Given the description of an element on the screen output the (x, y) to click on. 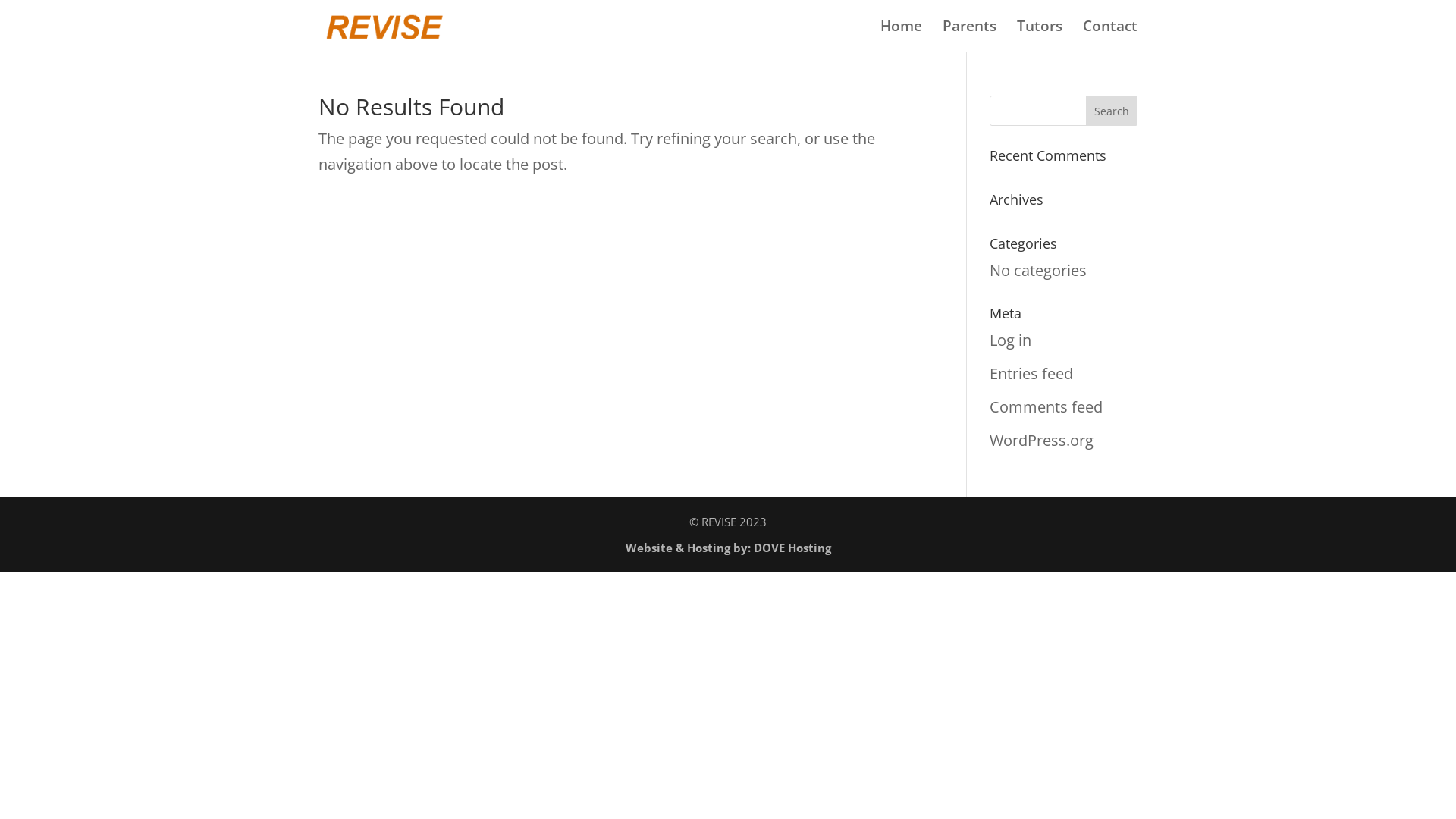
Log in Element type: text (1010, 339)
Contact Element type: text (1109, 35)
Comments feed Element type: text (1045, 406)
Tutors Element type: text (1039, 35)
Website & Hosting by: DOVE Hosting Element type: text (727, 547)
Entries feed Element type: text (1031, 373)
WordPress.org Element type: text (1041, 439)
Home Element type: text (901, 35)
Search Element type: text (1111, 110)
Parents Element type: text (969, 35)
